Given the description of an element on the screen output the (x, y) to click on. 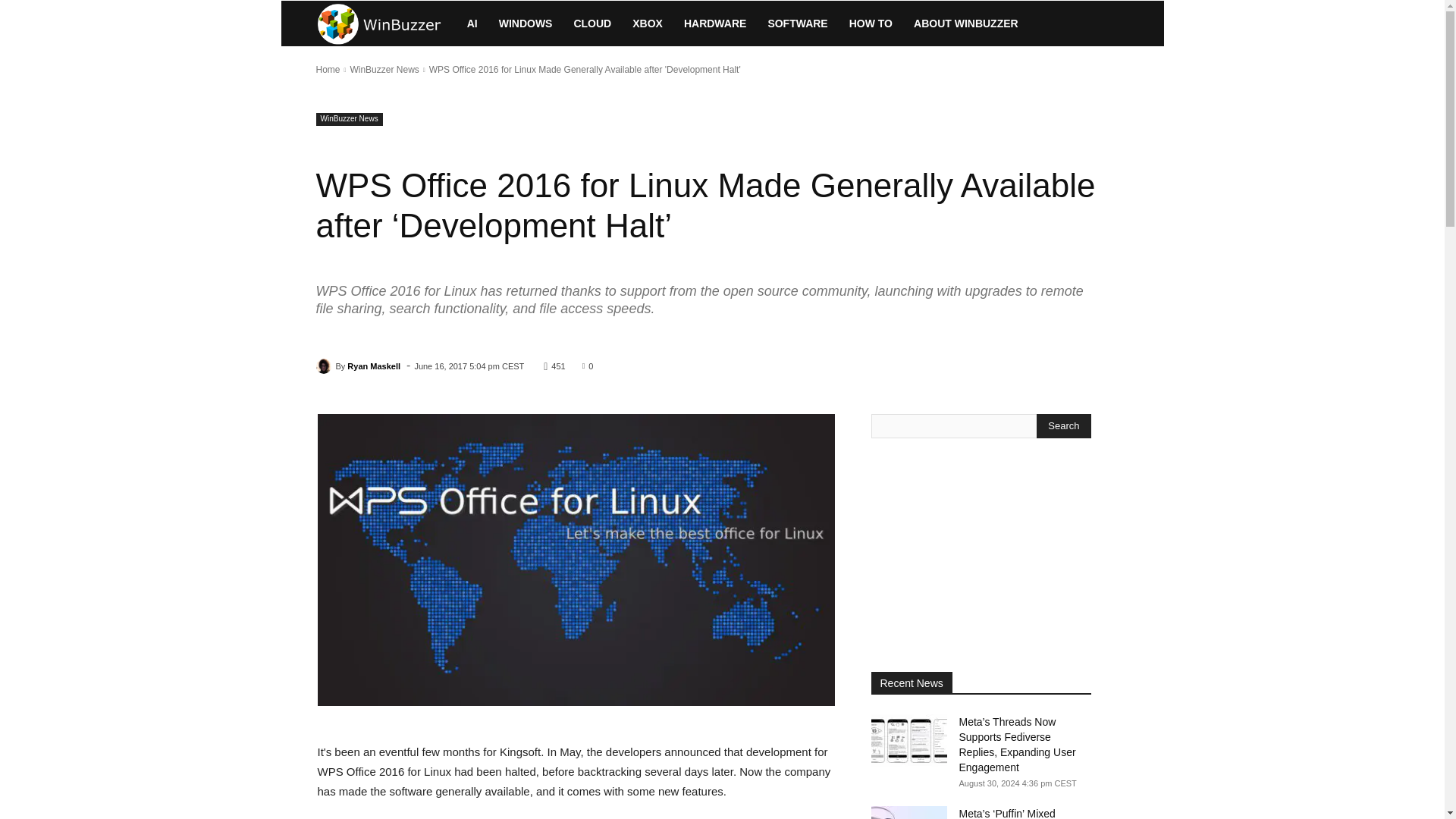
Search (1063, 426)
Ryan Maskell (324, 365)
View all posts in WinBuzzer News (384, 69)
